Given the description of an element on the screen output the (x, y) to click on. 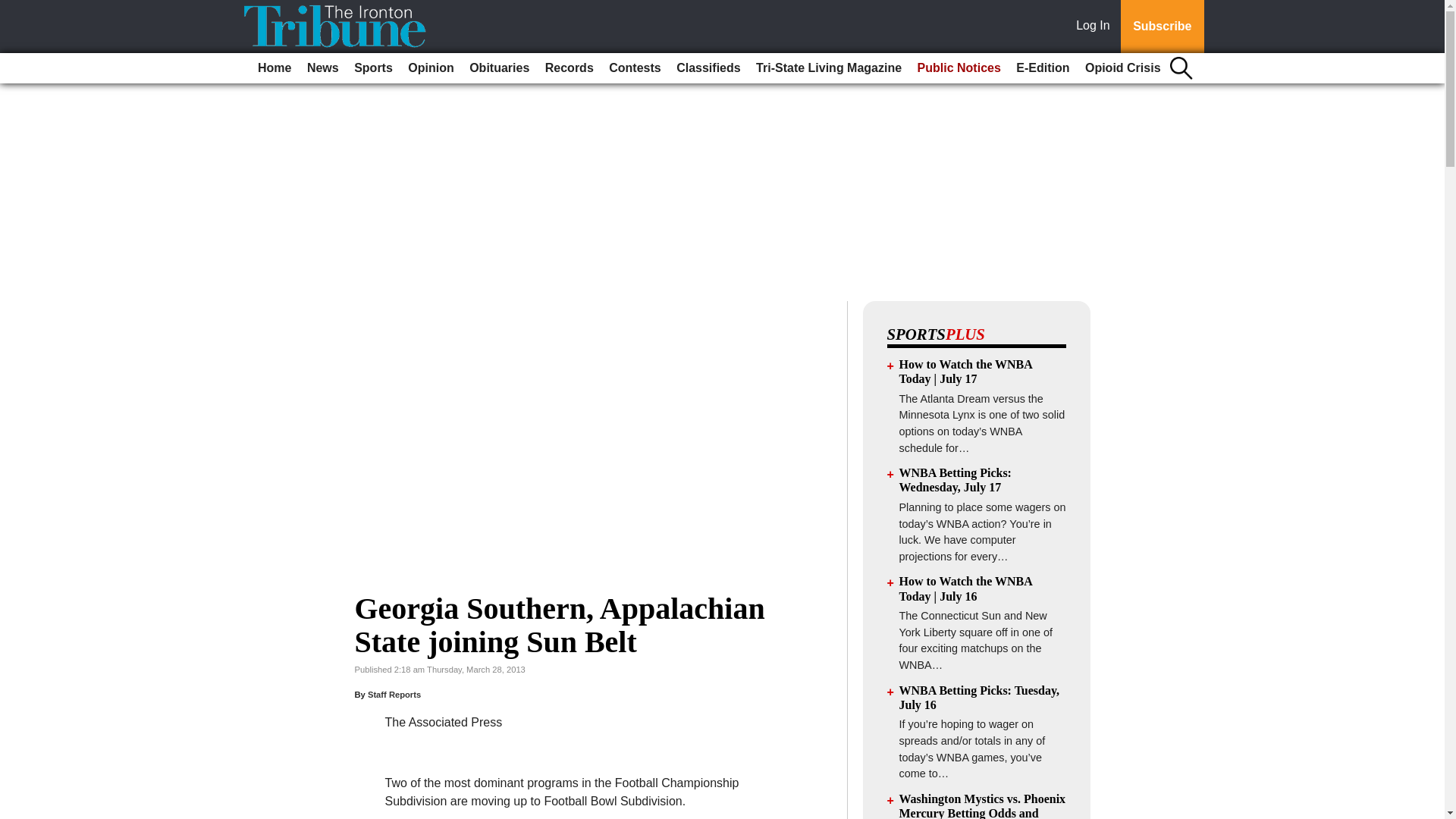
Public Notices (959, 68)
E-Edition (1042, 68)
Sports (372, 68)
Contests (634, 68)
WNBA Betting Picks: Wednesday, July 17 (955, 479)
Opinion (430, 68)
Tri-State Living Magazine (828, 68)
Records (568, 68)
Obituaries (499, 68)
Opioid Crisis (1122, 68)
Log In (1095, 26)
WNBA Betting Picks: Tuesday, July 16 (979, 697)
Classifieds (707, 68)
Staff Reports (394, 694)
Go (13, 9)
